Given the description of an element on the screen output the (x, y) to click on. 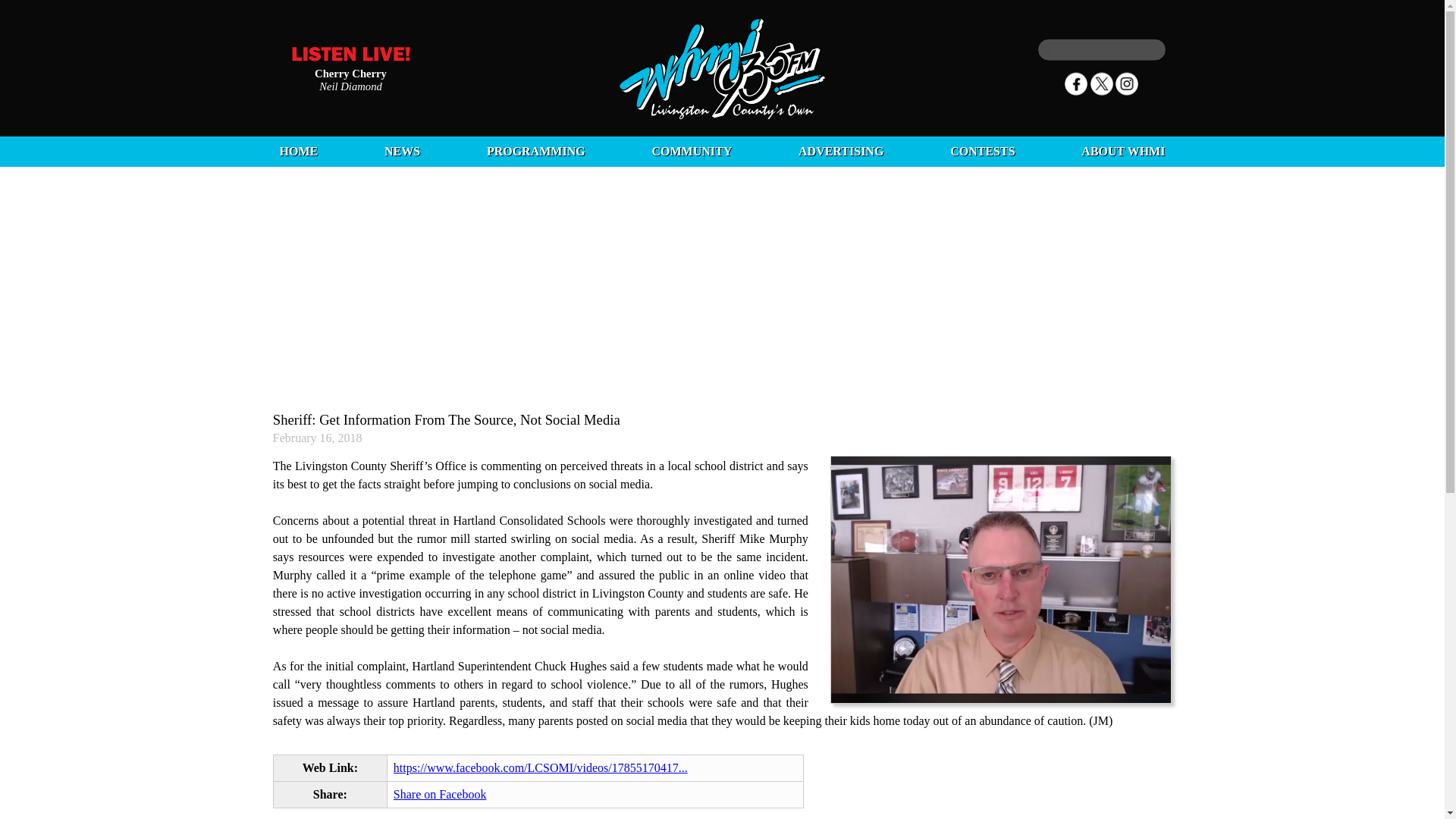
ADVERTISING (840, 151)
COMMUNITY (691, 151)
CONTESTS (982, 151)
HOME (298, 151)
Cherry Cherry (350, 72)
Neil Diamond (349, 85)
NEWS (402, 151)
PROGRAMMING (535, 151)
